Given the description of an element on the screen output the (x, y) to click on. 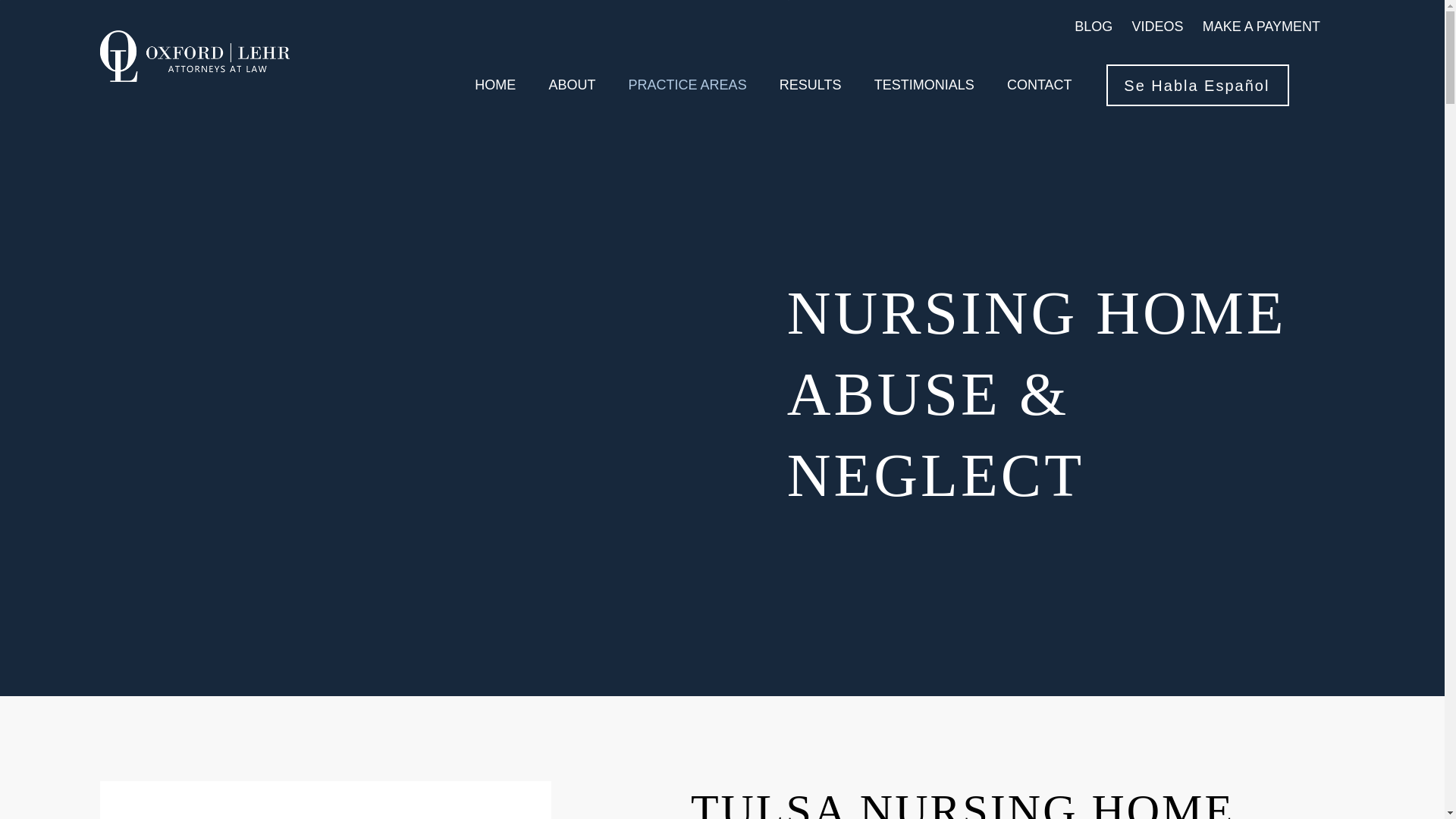
Open the accessibility options menu (1423, 798)
ABOUT (571, 85)
BLOG (1093, 26)
RESULTS (809, 85)
TESTIMONIALS (924, 85)
HOME (494, 85)
MAKE A PAYMENT (1261, 26)
PRACTICE AREAS (687, 85)
CONTACT (1039, 85)
Oxford Lehr (194, 55)
